Given the description of an element on the screen output the (x, y) to click on. 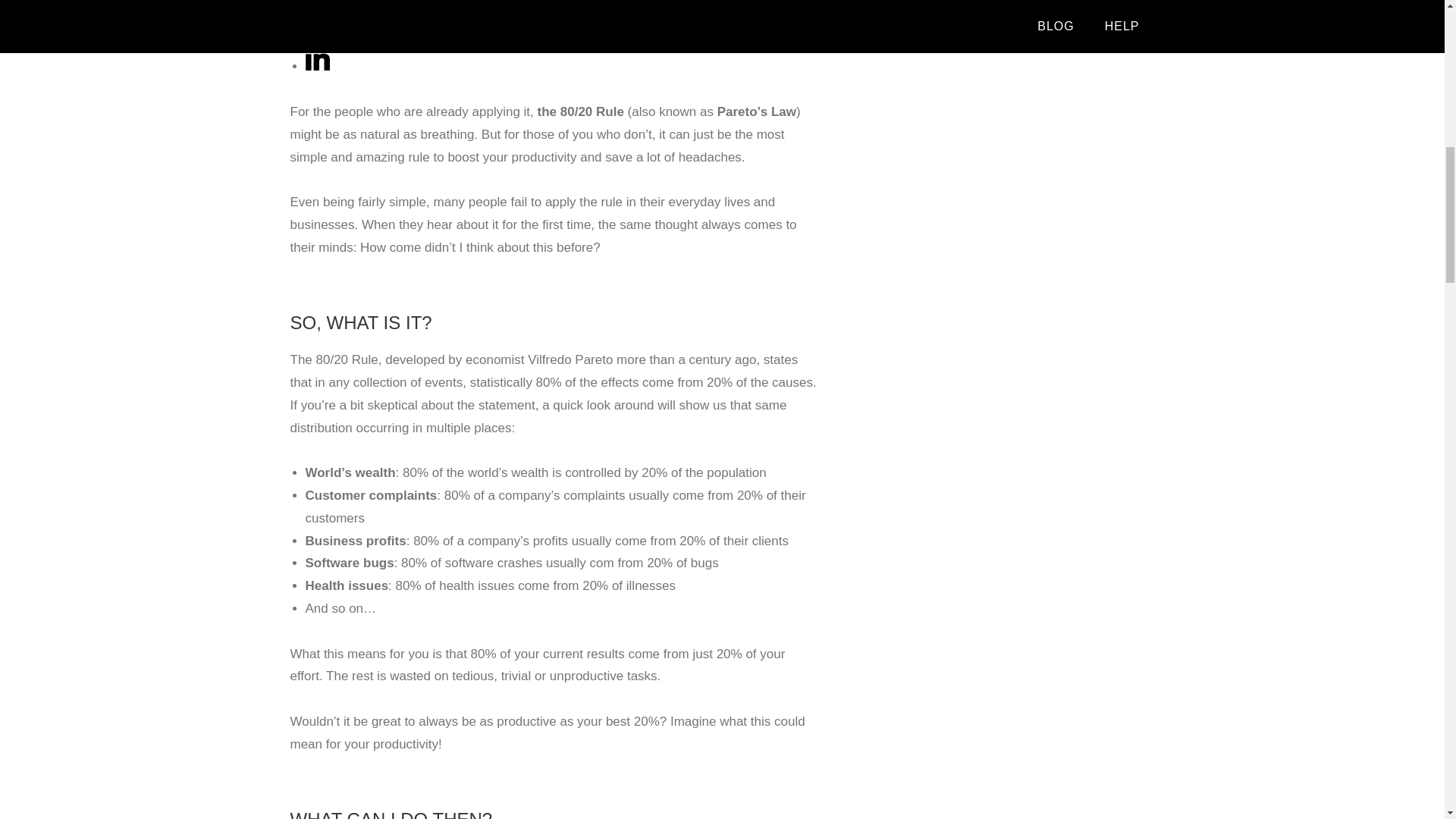
Share on Reddit (316, 34)
Share on Twitter (562, 5)
Share on LinkedIn (316, 65)
